Given the description of an element on the screen output the (x, y) to click on. 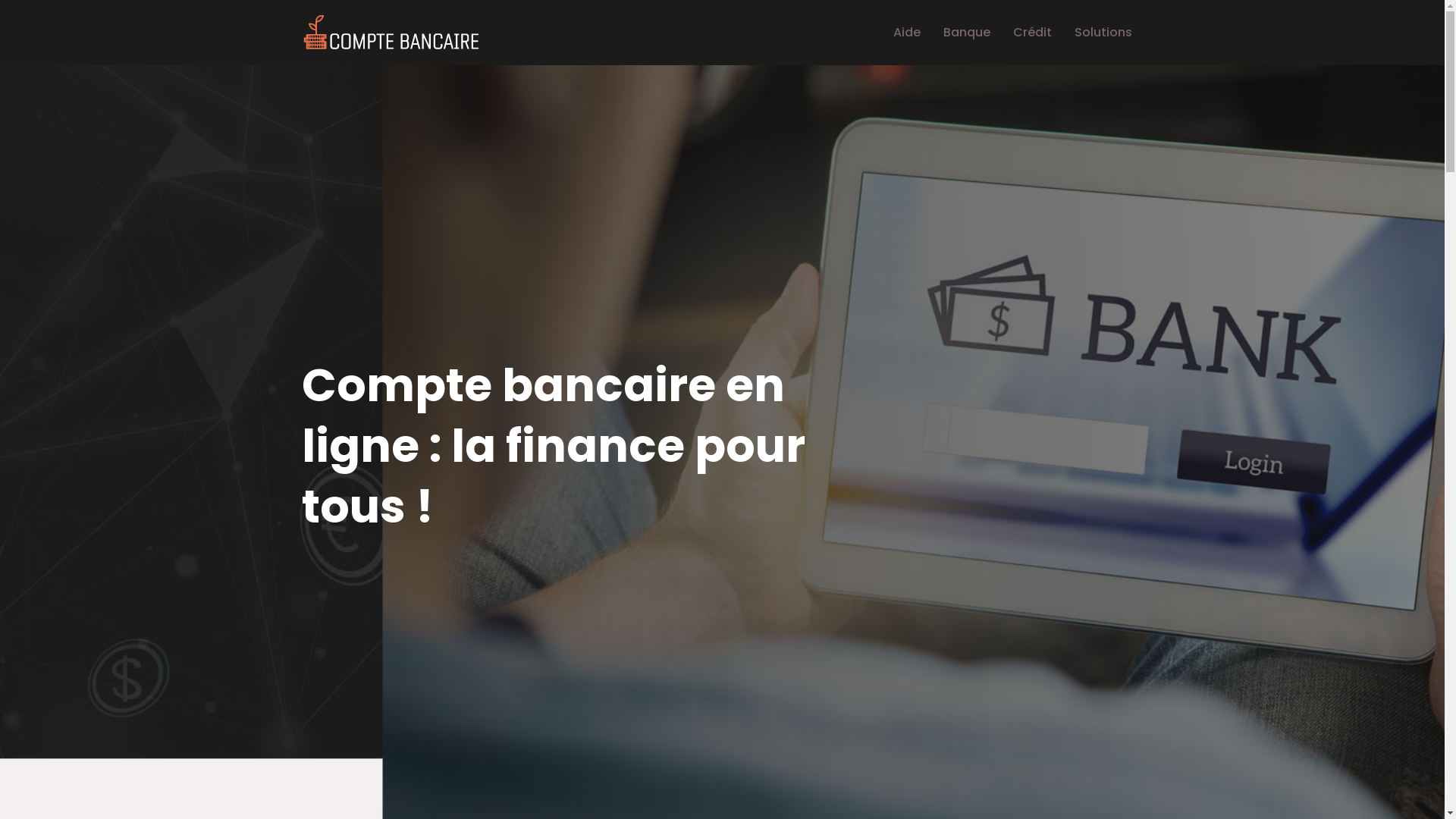
Solutions Element type: text (1102, 32)
Banque Element type: text (966, 32)
Aide Element type: text (906, 32)
